Given the description of an element on the screen output the (x, y) to click on. 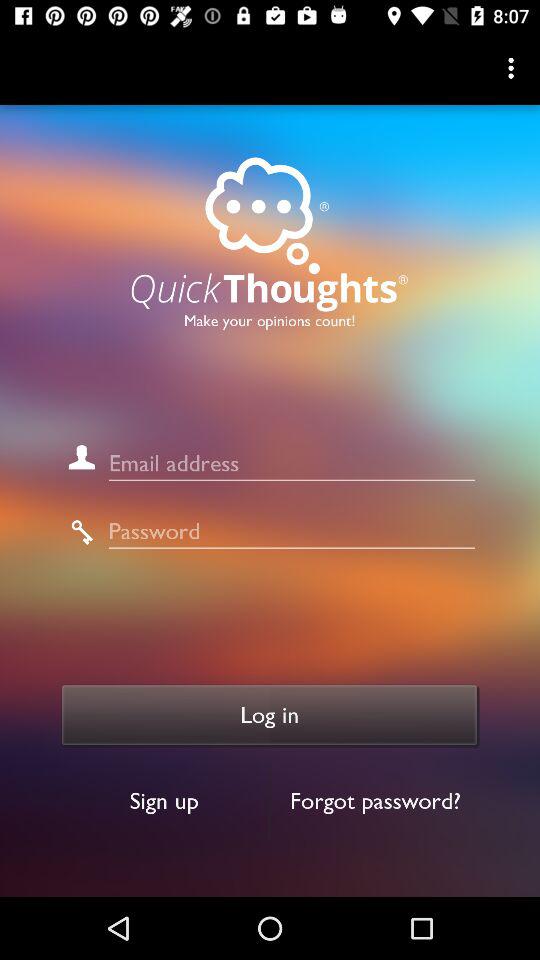
launch item at the bottom left corner (164, 800)
